Given the description of an element on the screen output the (x, y) to click on. 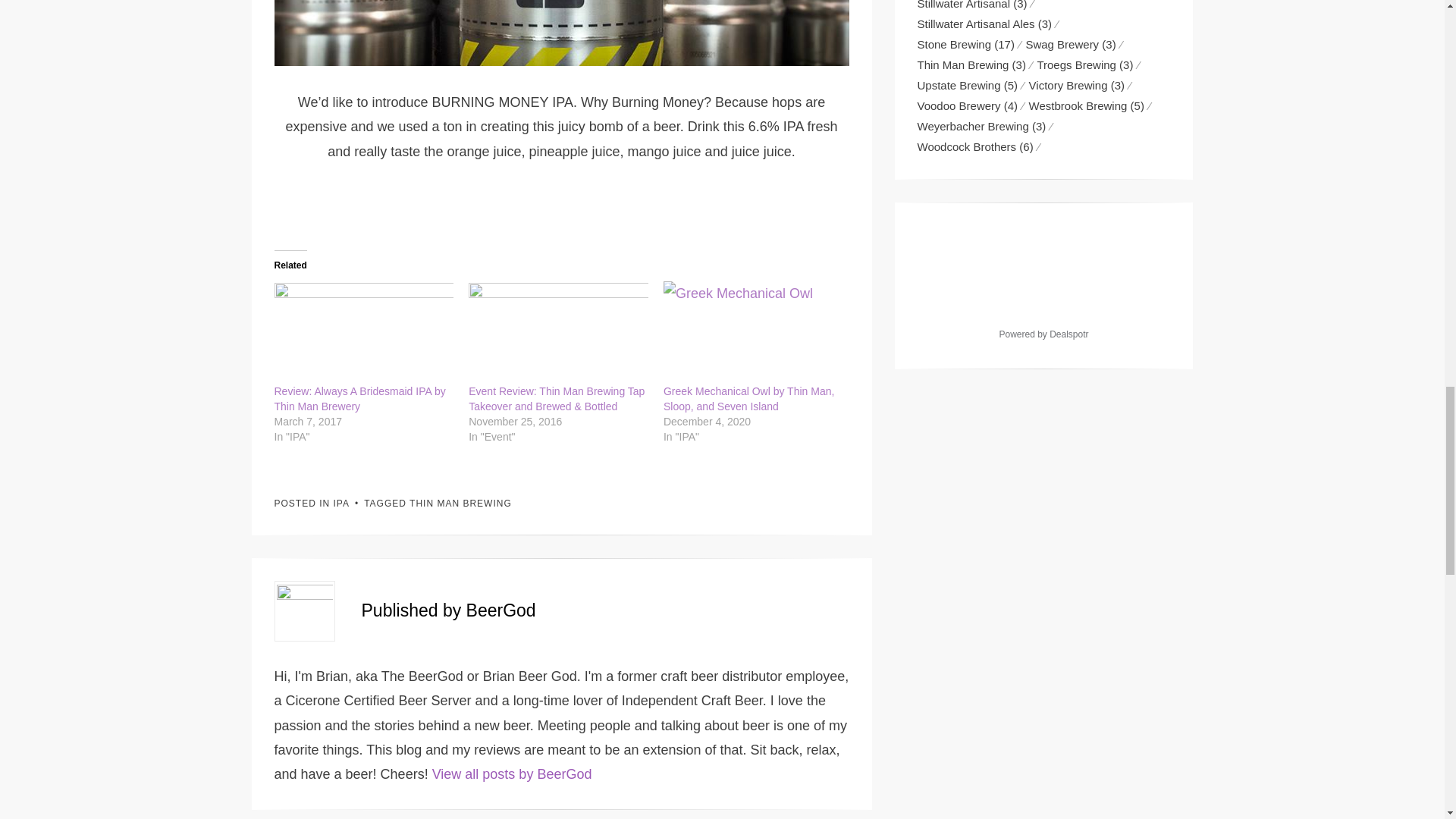
Review: Always A Bridesmaid IPA by Thin Man Brewery (360, 398)
Review: Always A Bridesmaid IPA by Thin Man Brewery (364, 332)
Greek Mechanical Owl by Thin Man, Sloop, and Seven Island (748, 398)
Greek Mechanical Owl by Thin Man, Sloop, and Seven Island (753, 332)
